Given the description of an element on the screen output the (x, y) to click on. 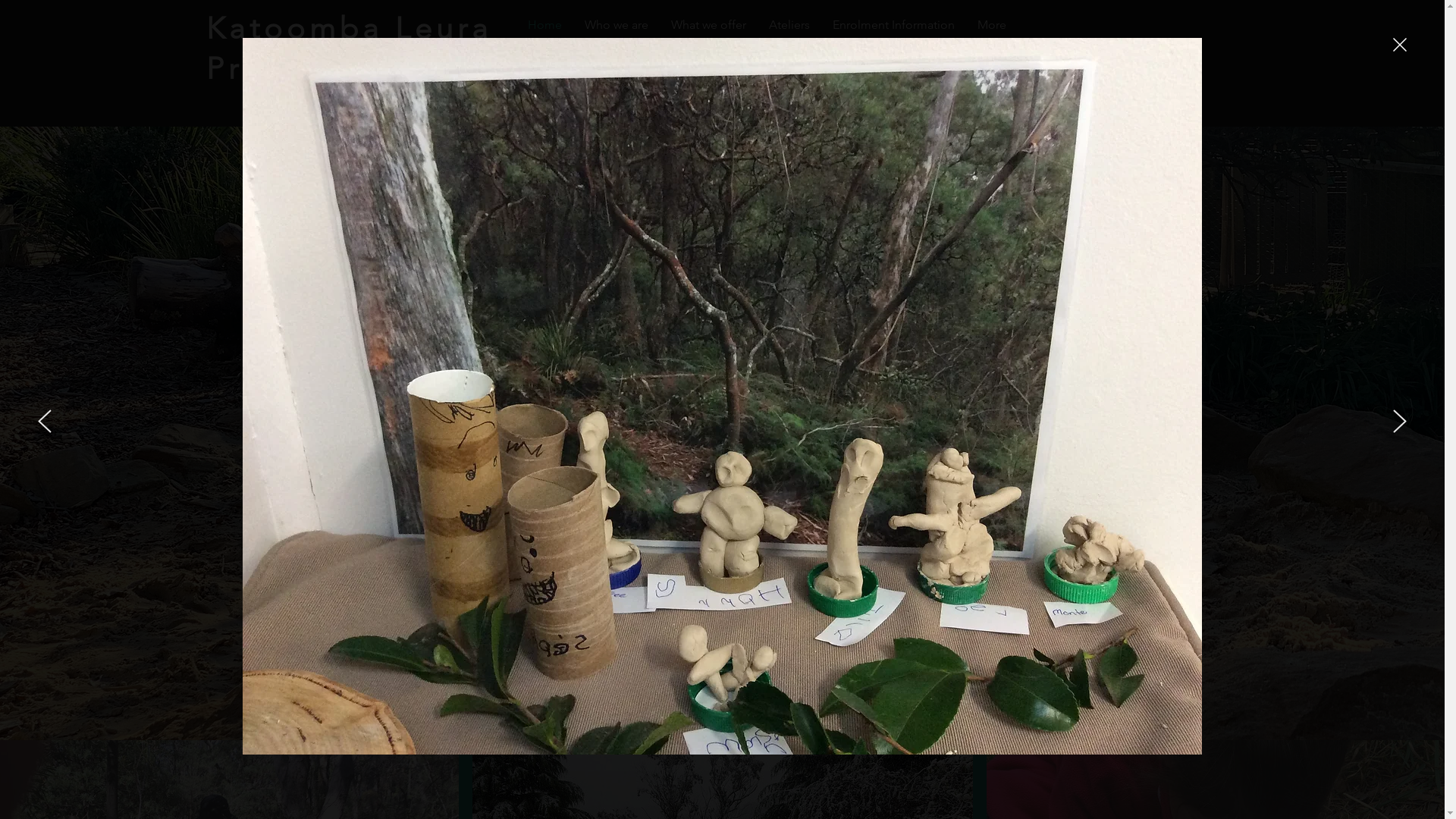
Ateliers Element type: text (788, 24)
Home Element type: text (543, 24)
Enrolment Information Element type: text (892, 24)
Who we are Element type: text (616, 24)
Katoomba Leura Preschool Element type: text (349, 47)
